Given the description of an element on the screen output the (x, y) to click on. 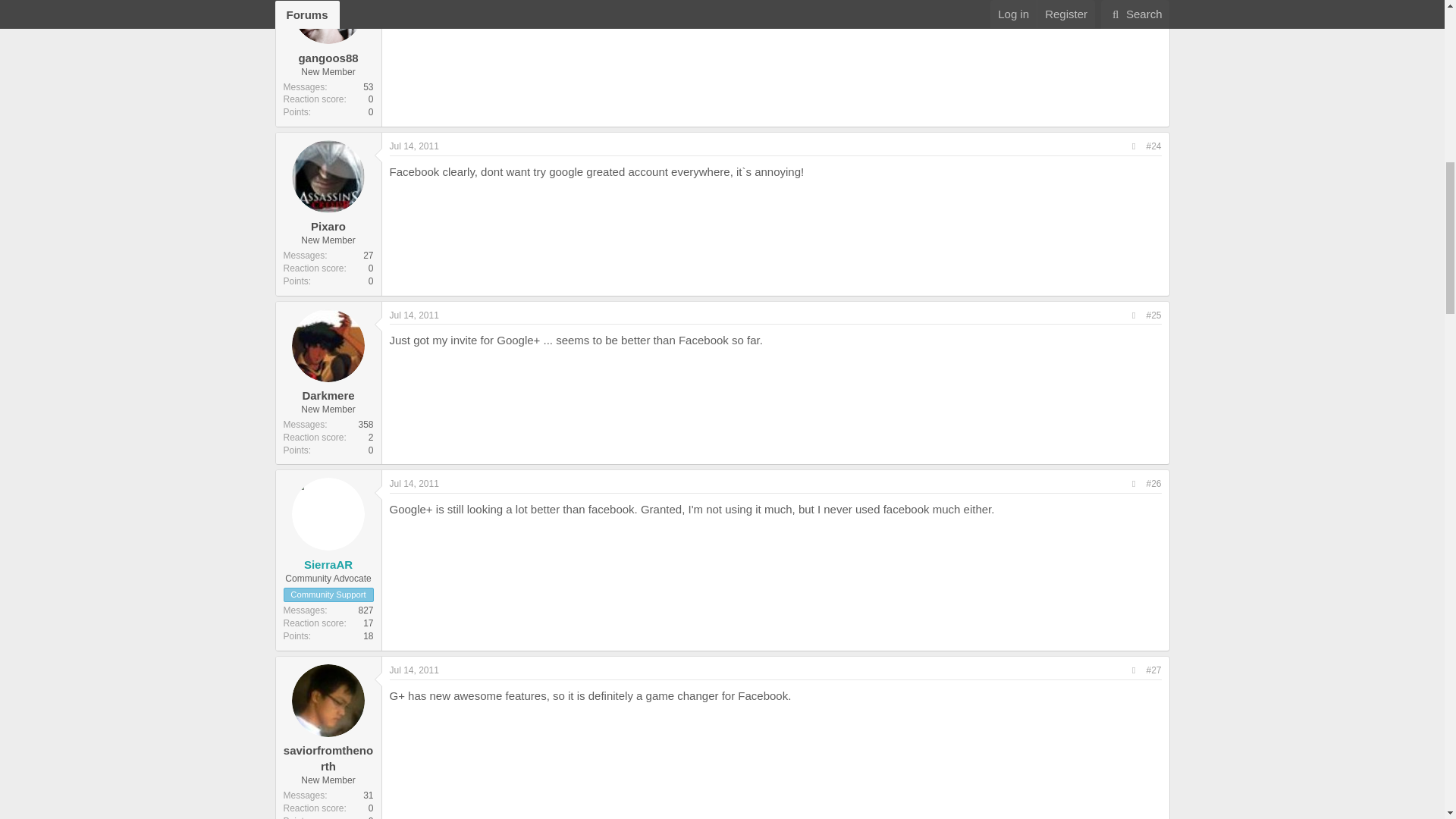
Jul 14, 2011 at 6:46 PM (414, 483)
Stick Out Tongue    :p (721, 5)
Jul 14, 2011 at 2:28 PM (414, 145)
Jul 14, 2011 at 9:12 PM (414, 670)
Jul 14, 2011 at 6:43 PM (414, 315)
